Given the description of an element on the screen output the (x, y) to click on. 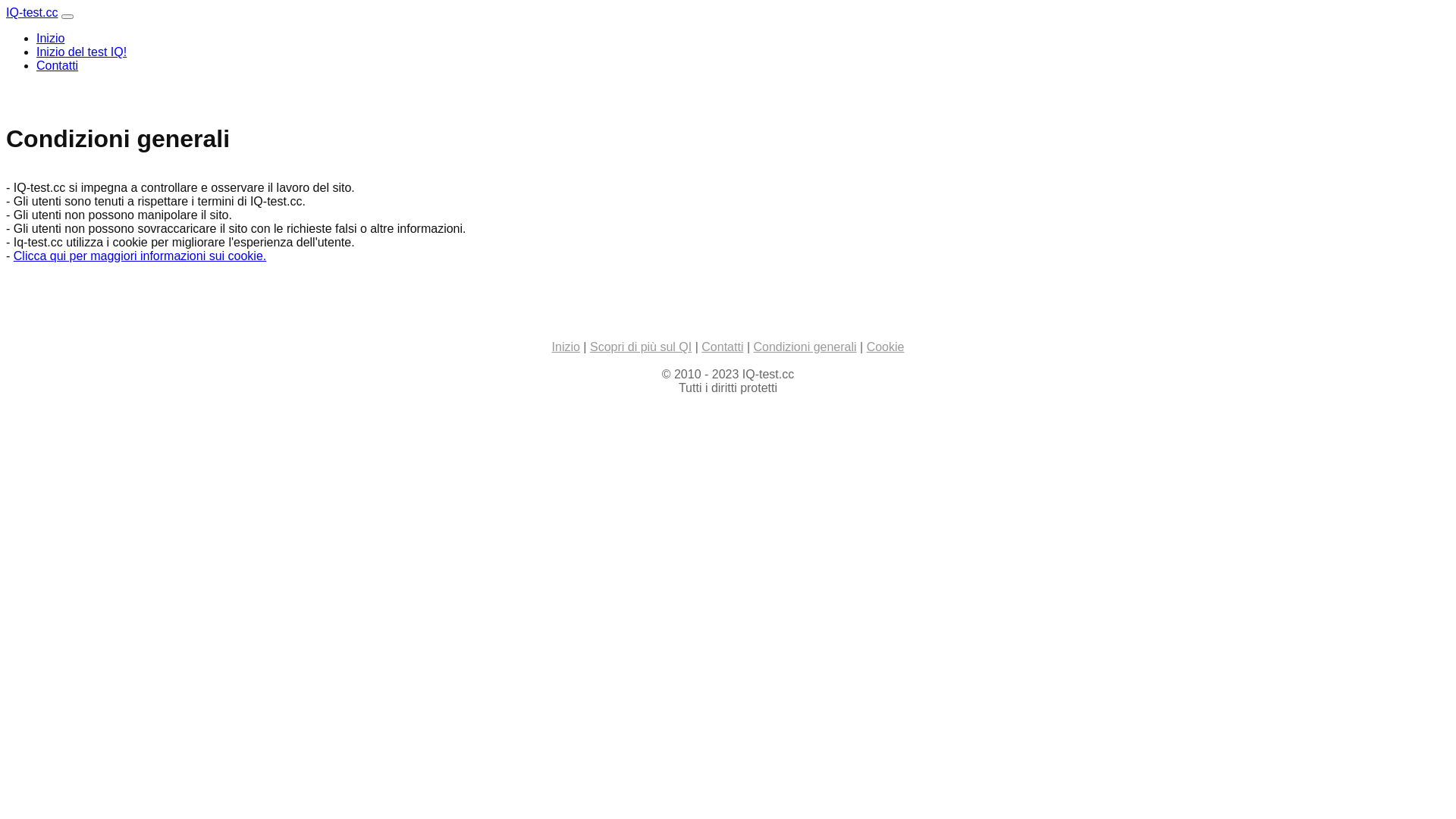
Contatti Element type: text (57, 65)
Inizio del test IQ! Element type: text (81, 51)
Contatti Element type: text (722, 346)
Cookie Element type: text (885, 346)
Inizio Element type: text (50, 37)
Inizio Element type: text (566, 346)
Condizioni generali Element type: text (804, 346)
Clicca qui per maggiori informazioni sui cookie. Element type: text (139, 255)
IQ-test.cc Element type: text (31, 12)
